Given the description of an element on the screen output the (x, y) to click on. 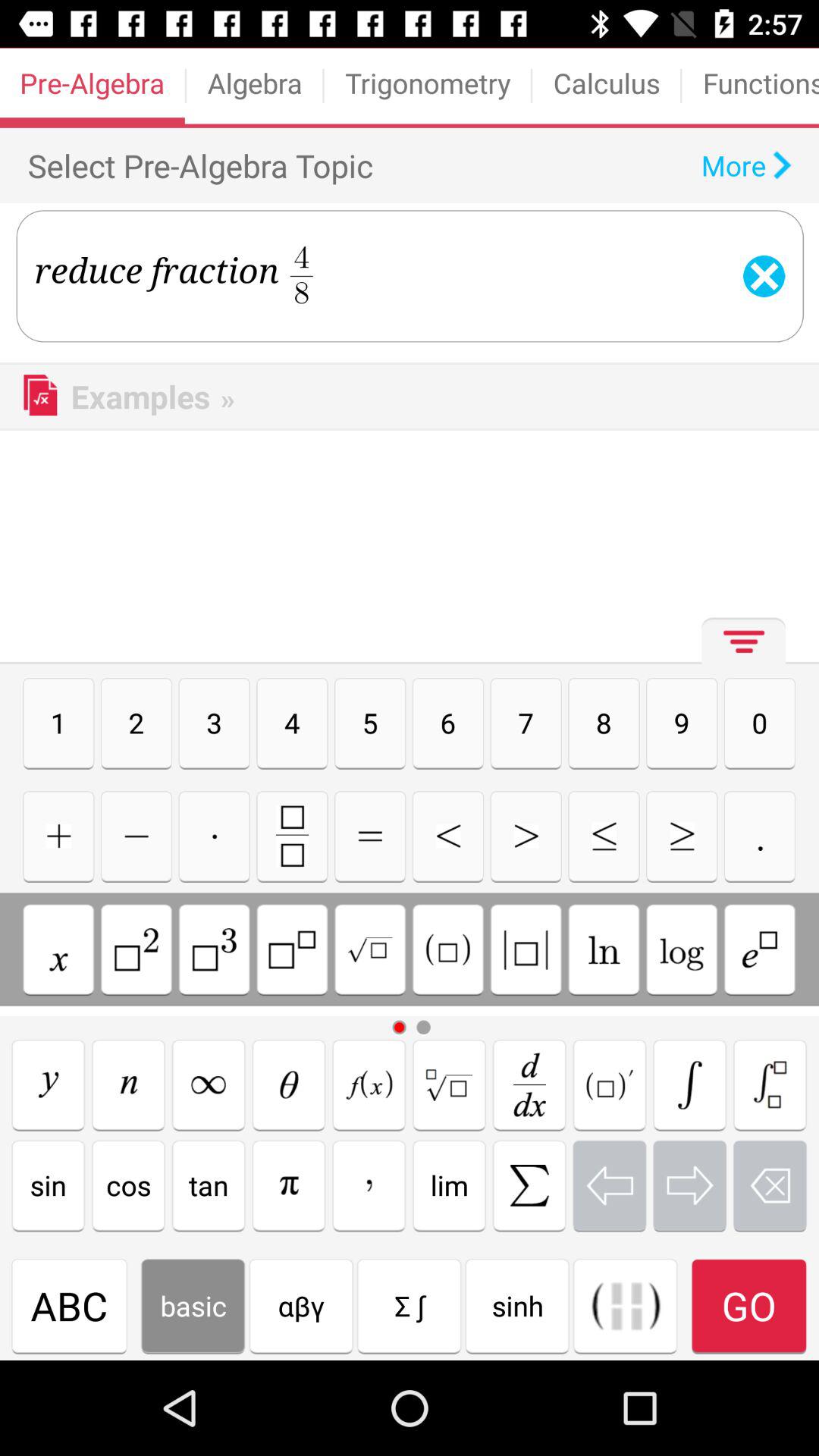
select period (759, 835)
